Given the description of an element on the screen output the (x, y) to click on. 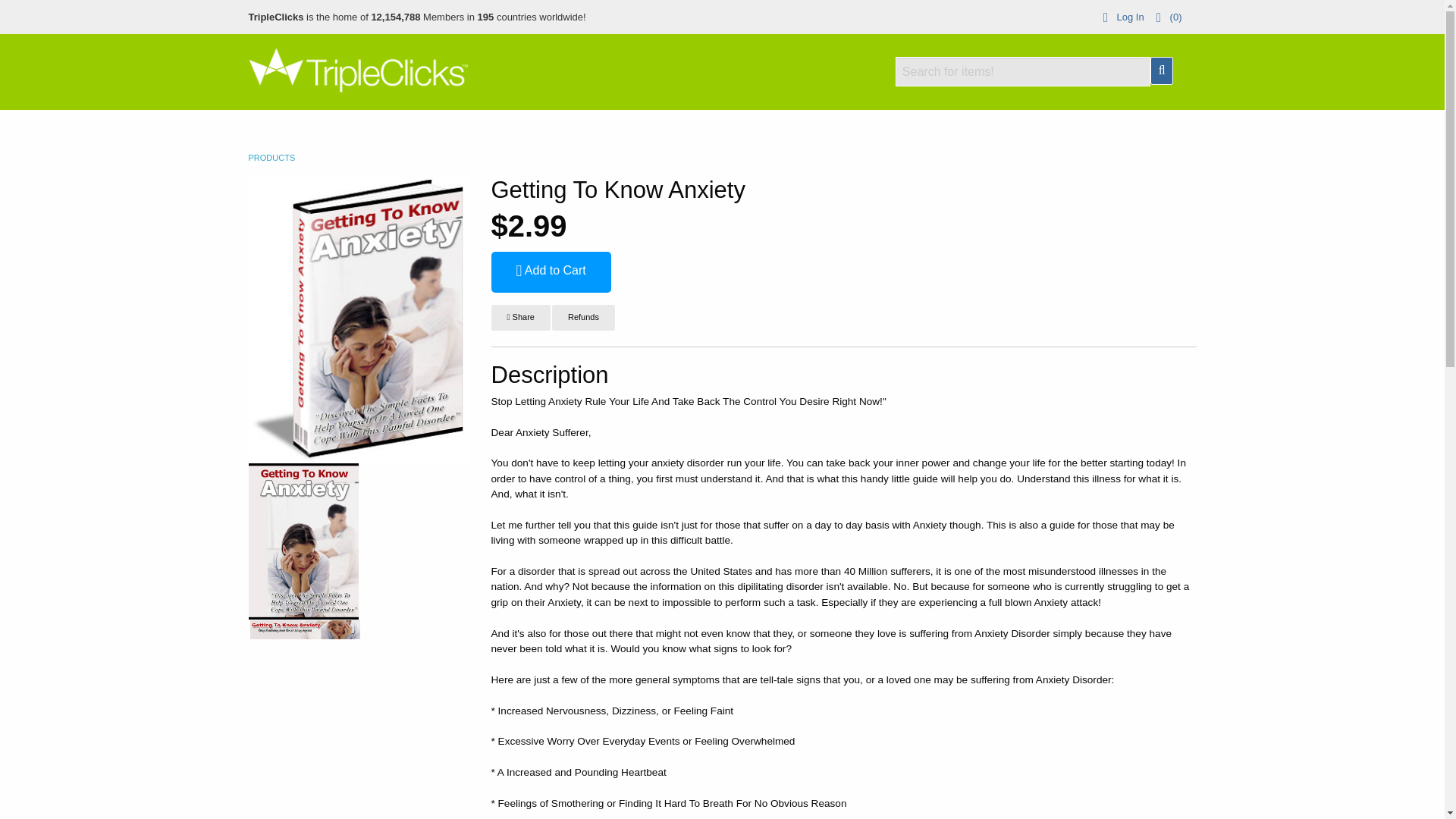
Add to Cart (551, 271)
Log In (1120, 17)
PRODUCTS (271, 157)
